Given the description of an element on the screen output the (x, y) to click on. 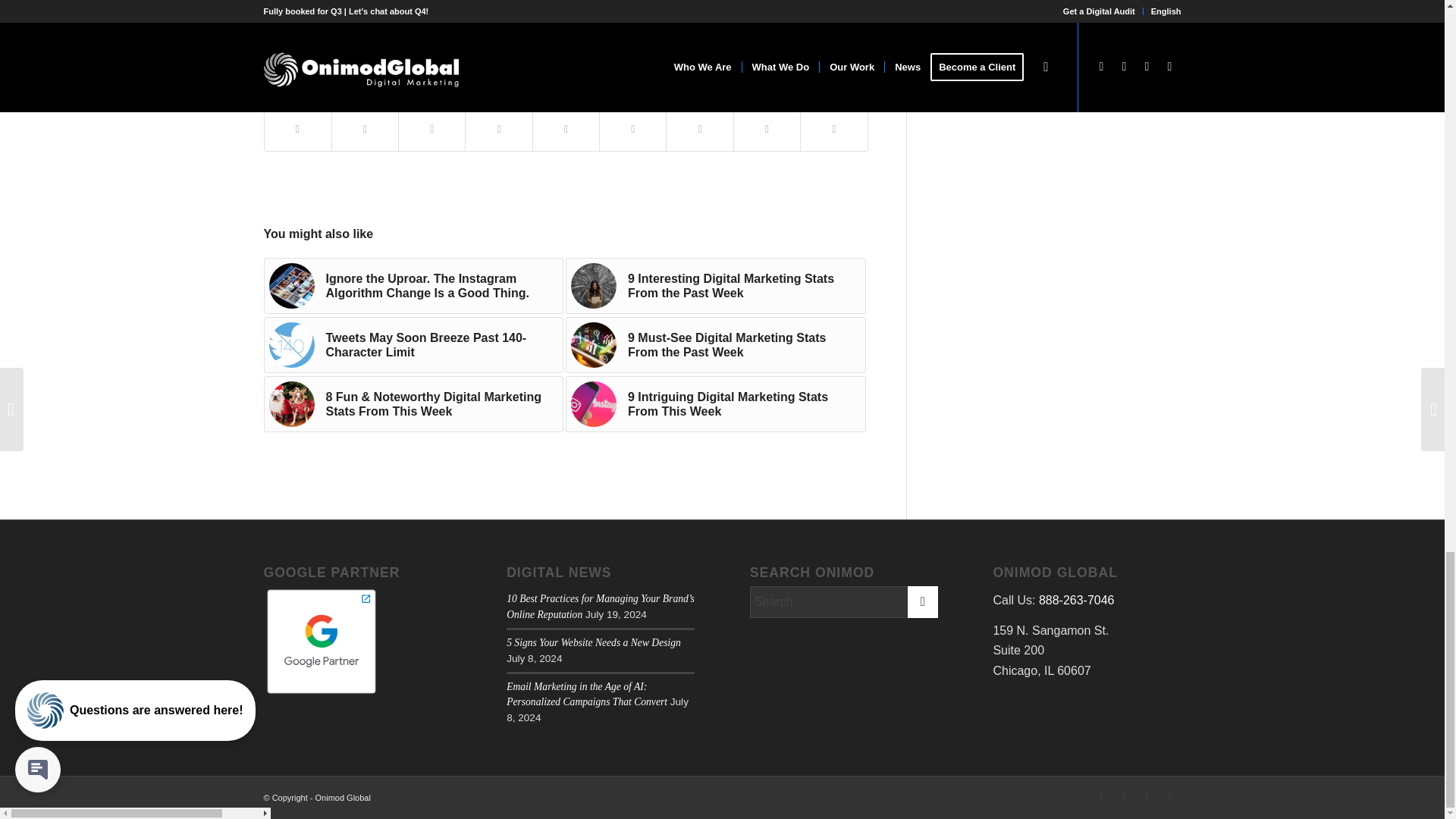
Twitter (479, 45)
Digital Marketing stats (349, 45)
Instagram (432, 45)
AdWeek. (310, 14)
